Given the description of an element on the screen output the (x, y) to click on. 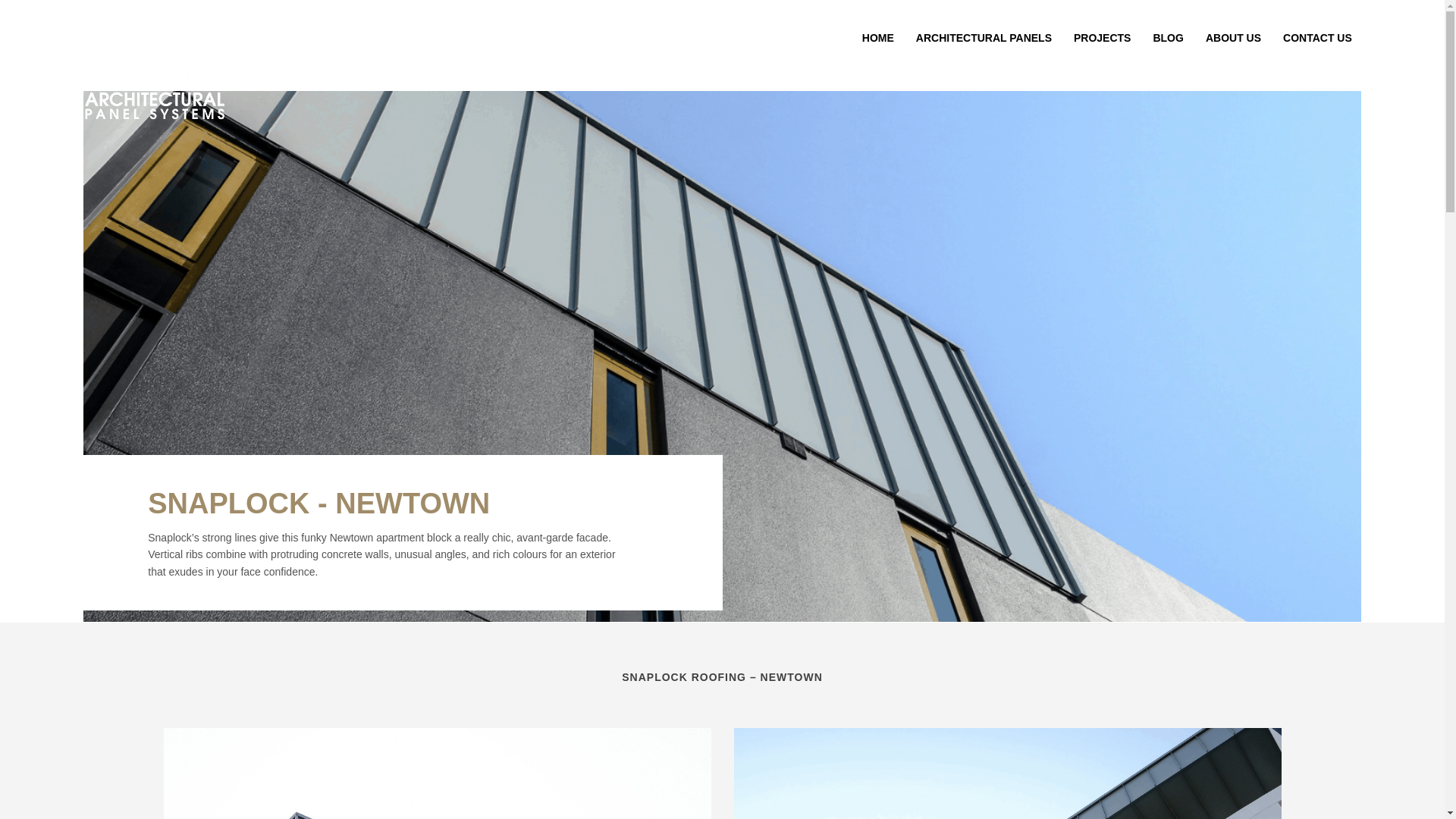
PROJECTS (1102, 37)
Colourful Haymarket (437, 773)
HOME (877, 37)
CONTACT US (1317, 37)
There is no equivalent (153, 71)
Newtown Snaplock (1007, 773)
BLOG (1167, 37)
ARCHITECTURAL PANELS (984, 37)
ABOUT US (1232, 37)
